Given the description of an element on the screen output the (x, y) to click on. 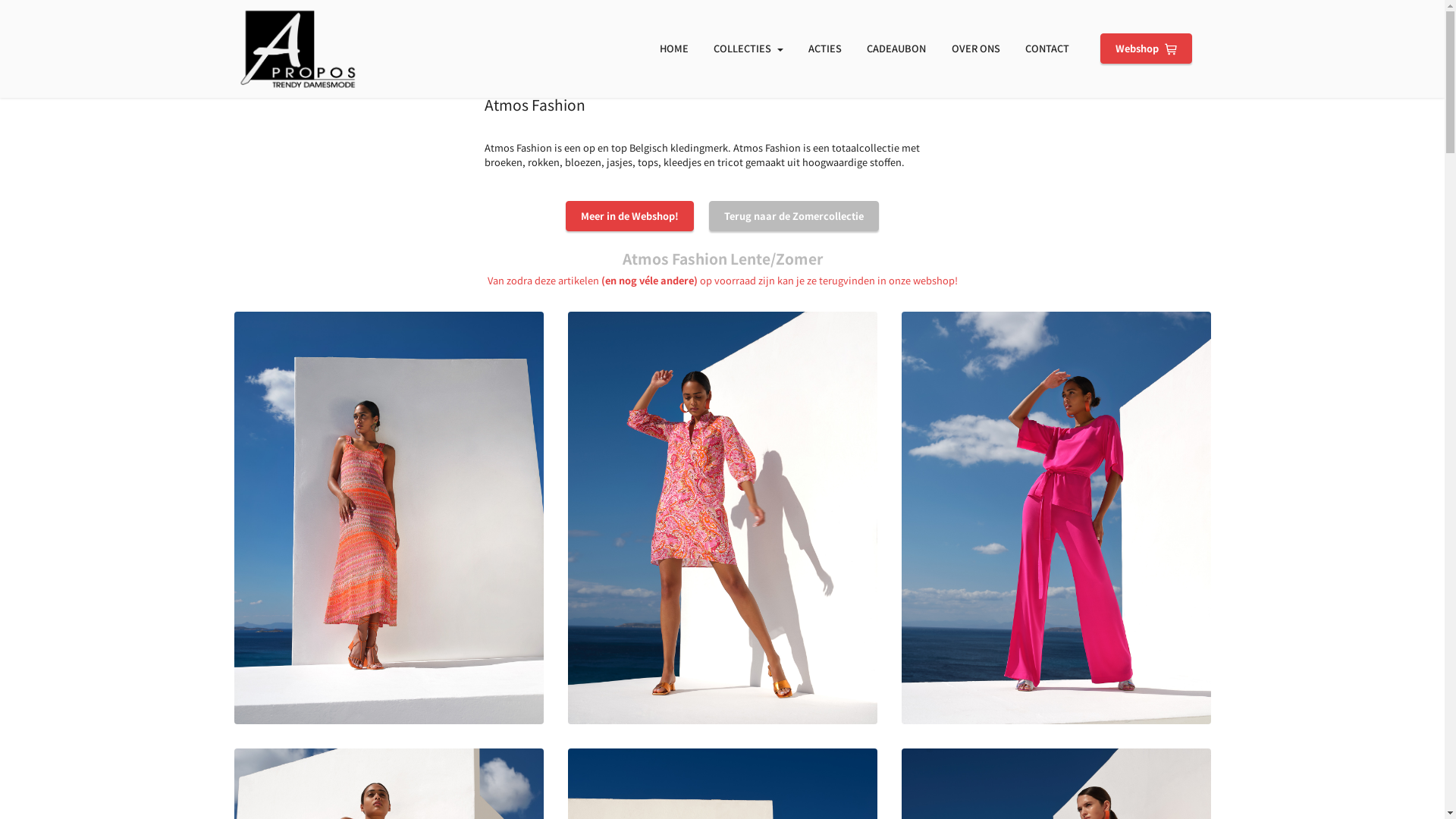
OVER ONS Element type: text (975, 47)
COLLECTIES Element type: text (748, 47)
HOME Element type: text (673, 47)
CADEAUBON Element type: text (896, 47)
Meer in de Webshop! Element type: text (629, 215)
webshop Element type: text (933, 280)
ACTIES Element type: text (824, 47)
Terug naar de Zomercollectie Element type: text (793, 215)
CONTACT Element type: text (1047, 47)
Webshop Element type: text (1146, 48)
